Given the description of an element on the screen output the (x, y) to click on. 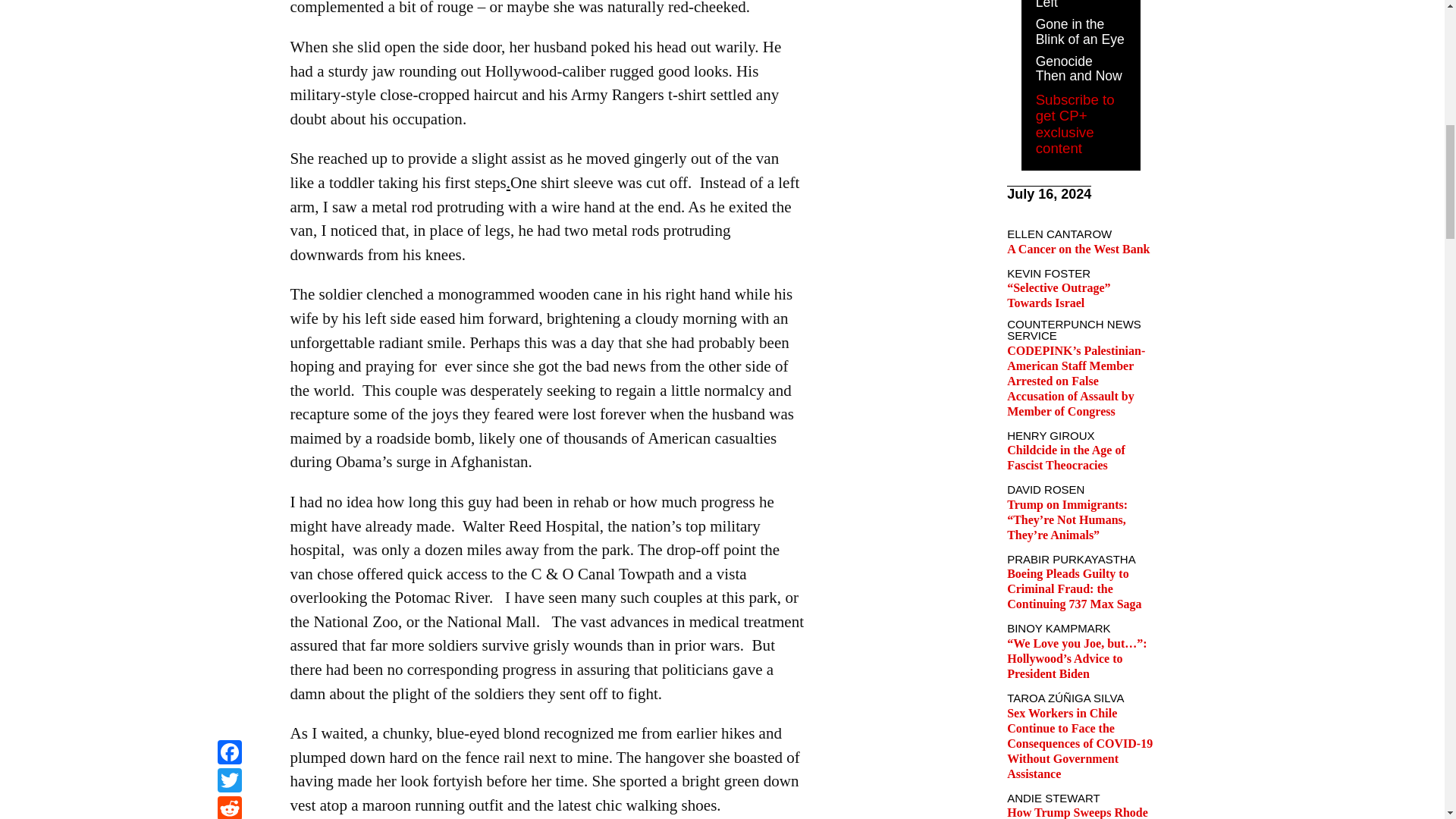
Reddit (229, 2)
Email (229, 18)
Gone in the Blink of an Eye (1079, 31)
Email (229, 18)
Reddit (229, 2)
The Molting of the Dirtbag Left (1077, 4)
